Given the description of an element on the screen output the (x, y) to click on. 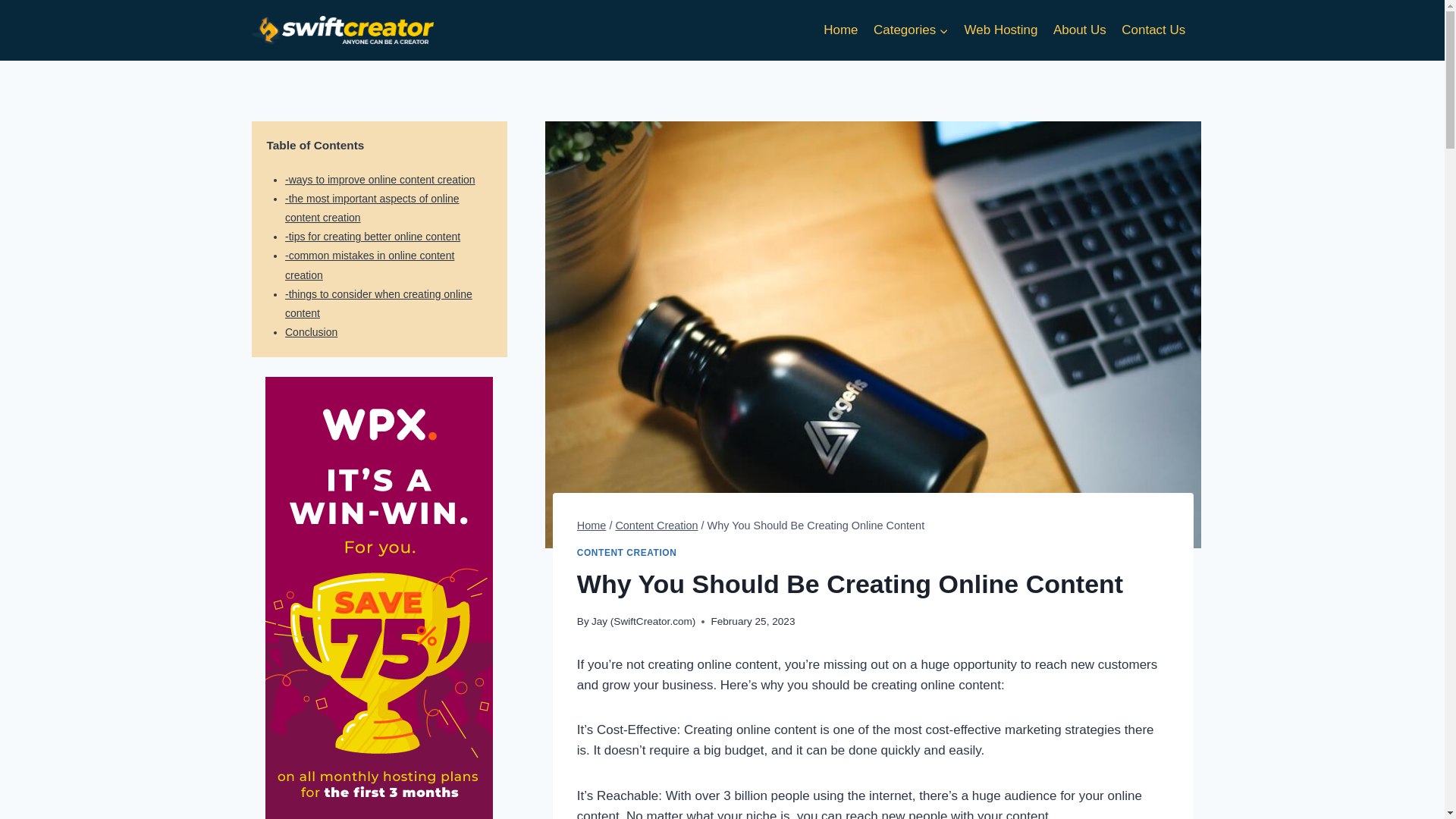
Categories (911, 30)
Home (840, 30)
Home (591, 525)
CONTENT CREATION (626, 552)
Contact Us (1152, 30)
Web Hosting (1000, 30)
Content Creation (655, 525)
About Us (1079, 30)
